Given the description of an element on the screen output the (x, y) to click on. 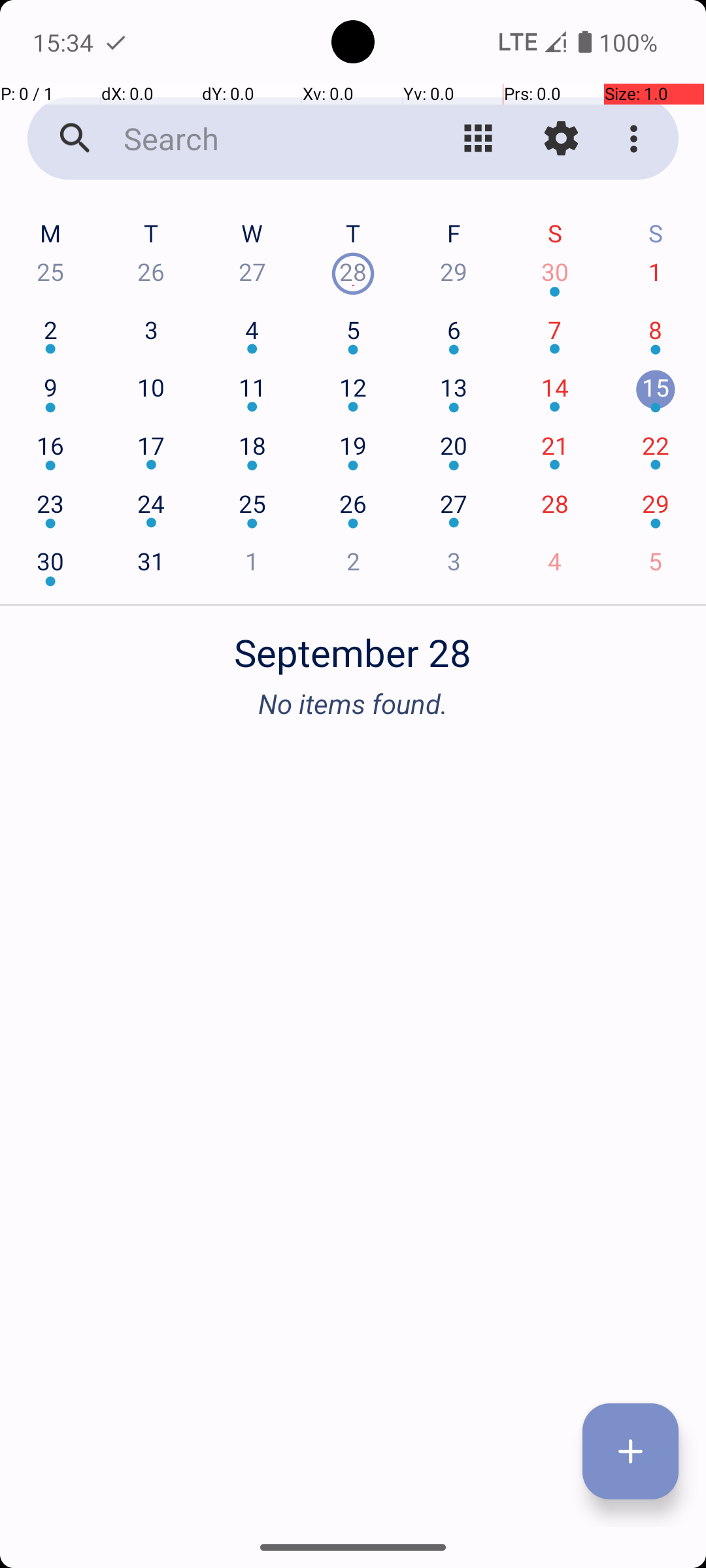
September 28 Element type: android.widget.TextView (352, 644)
